Given the description of an element on the screen output the (x, y) to click on. 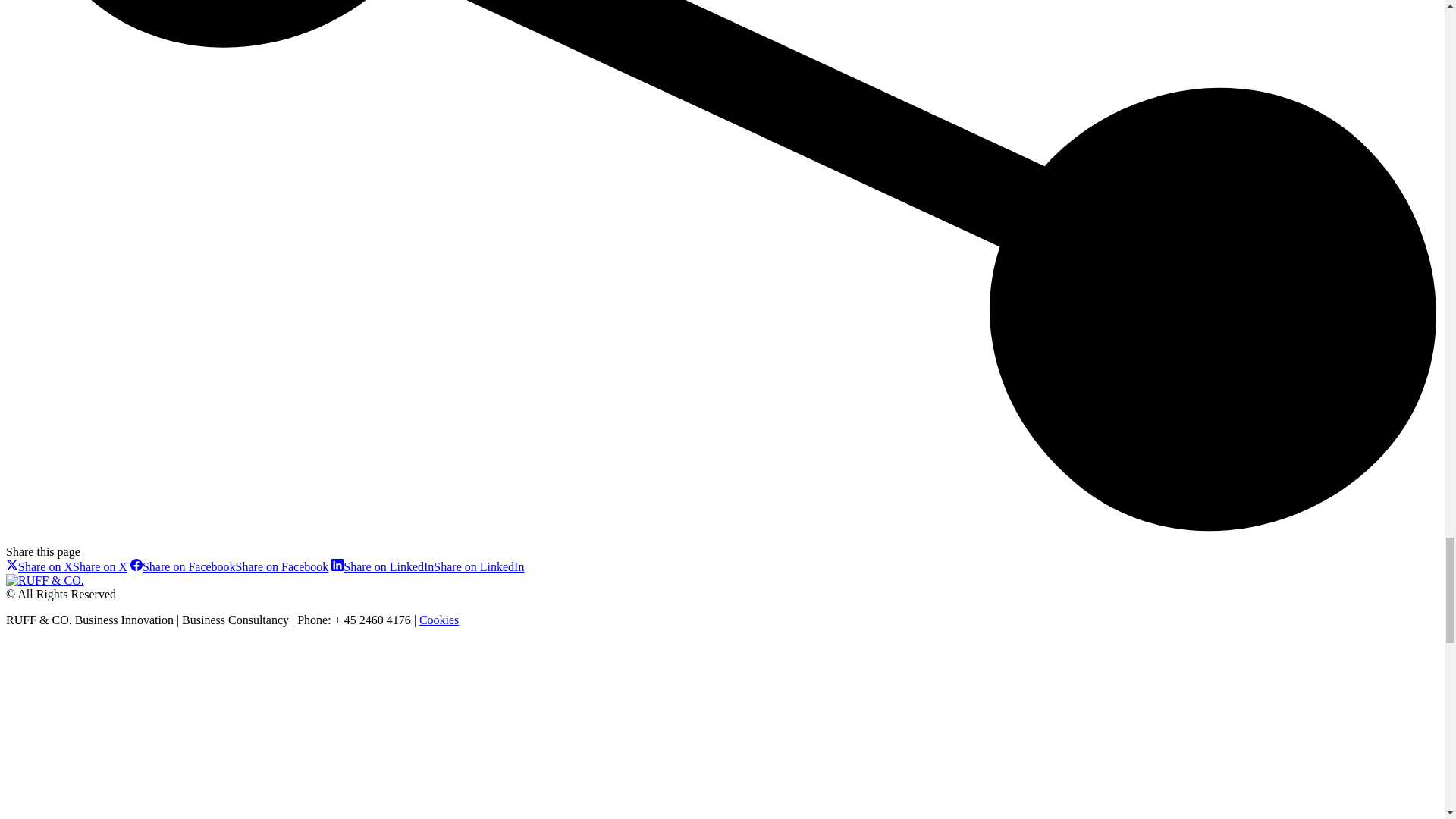
Facebook (230, 566)
X (66, 566)
LinkedIn (427, 566)
